Given the description of an element on the screen output the (x, y) to click on. 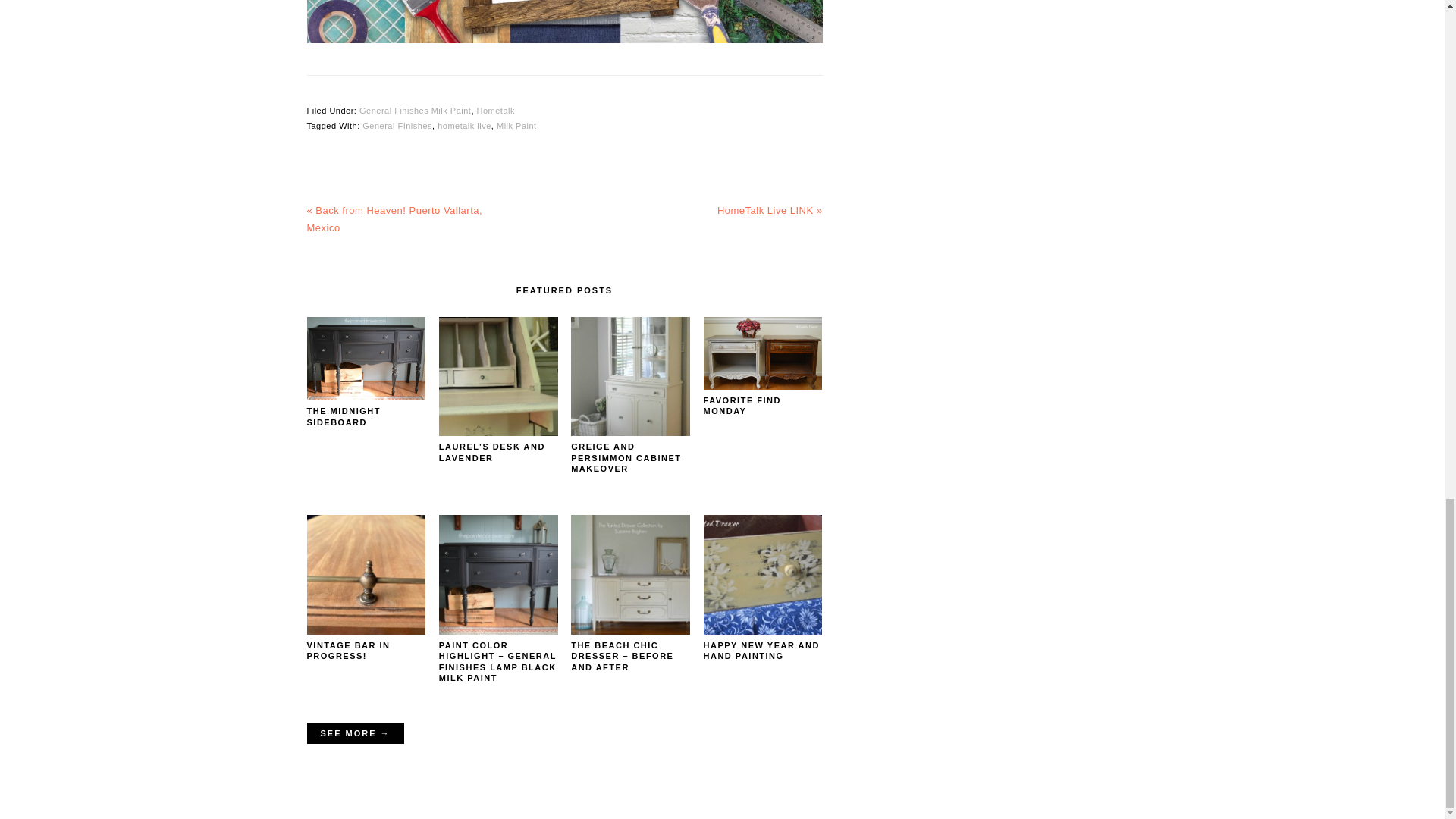
Greige and Persimmon Cabinet Makeover (630, 432)
FAVORITE FIND MONDAY (741, 405)
VINTAGE BAR IN PROGRESS! (347, 650)
General FInishes (397, 125)
HAPPY NEW YEAR AND HAND PAINTING (761, 650)
Vintage Bar In Progress! (365, 631)
Hometalk (494, 110)
GREIGE AND PERSIMMON CABINET MAKEOVER (625, 457)
General Finishes Milk Paint (414, 110)
Favorite Find Monday (762, 386)
